Given the description of an element on the screen output the (x, y) to click on. 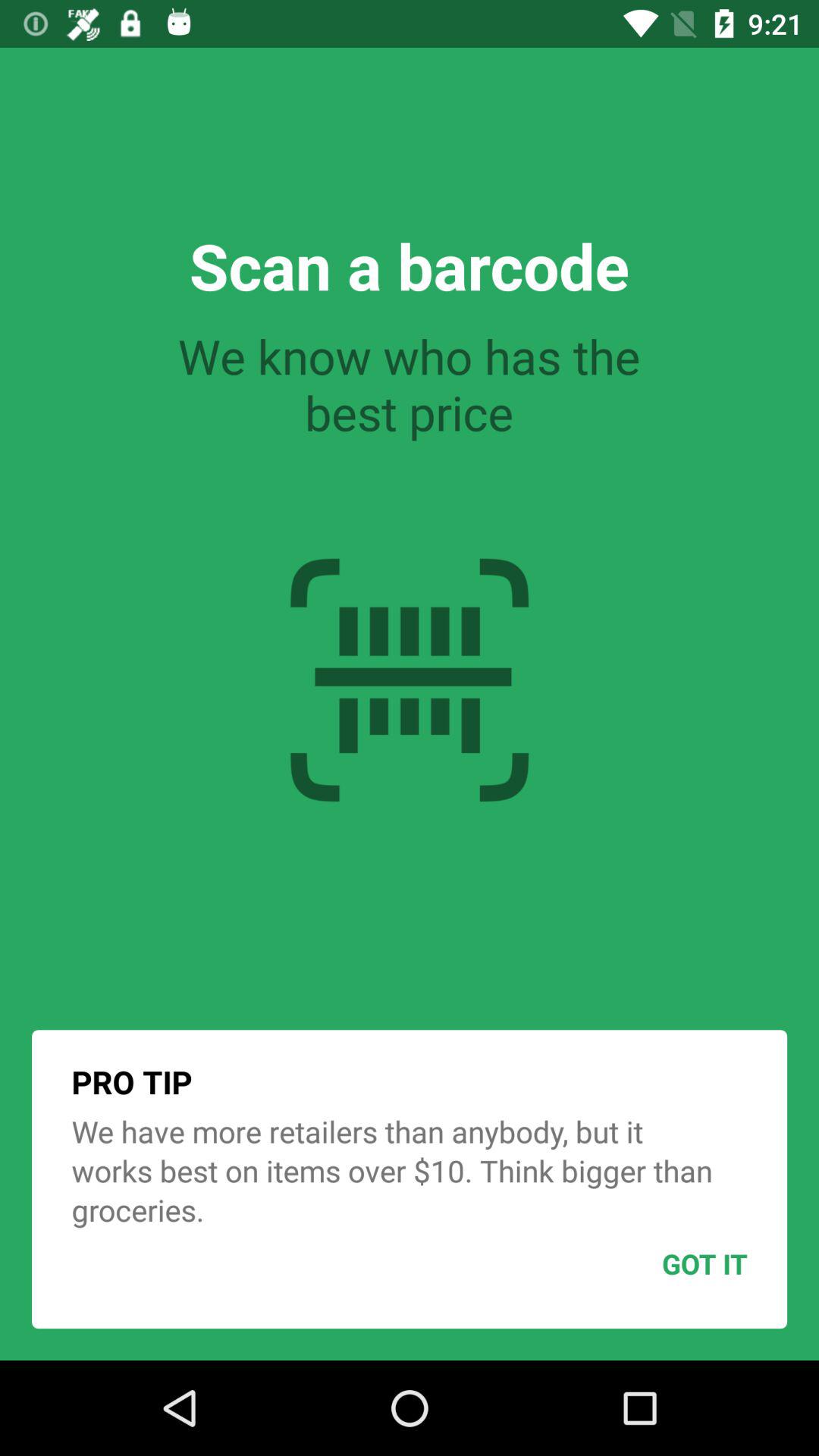
press the item below the we have more item (667, 1263)
